Given the description of an element on the screen output the (x, y) to click on. 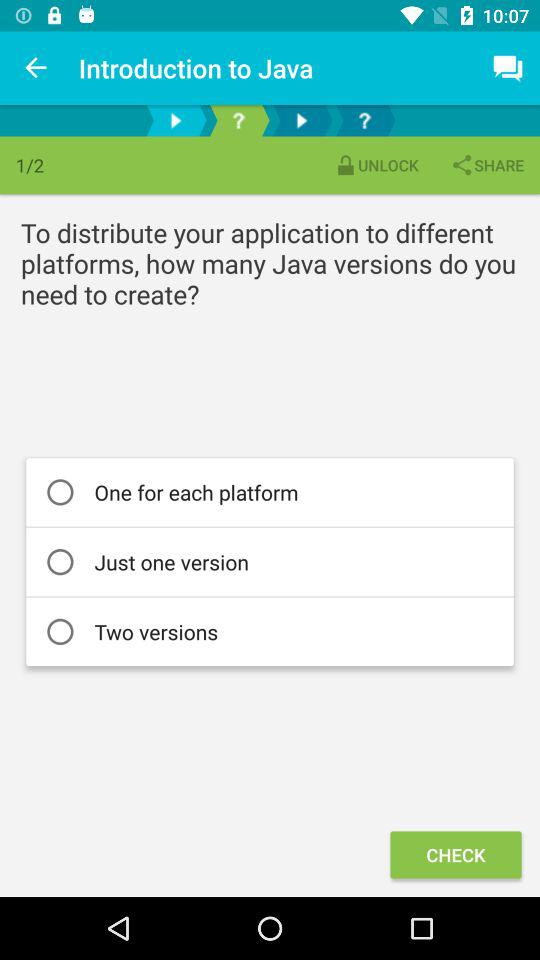
move to next question (175, 120)
